Given the description of an element on the screen output the (x, y) to click on. 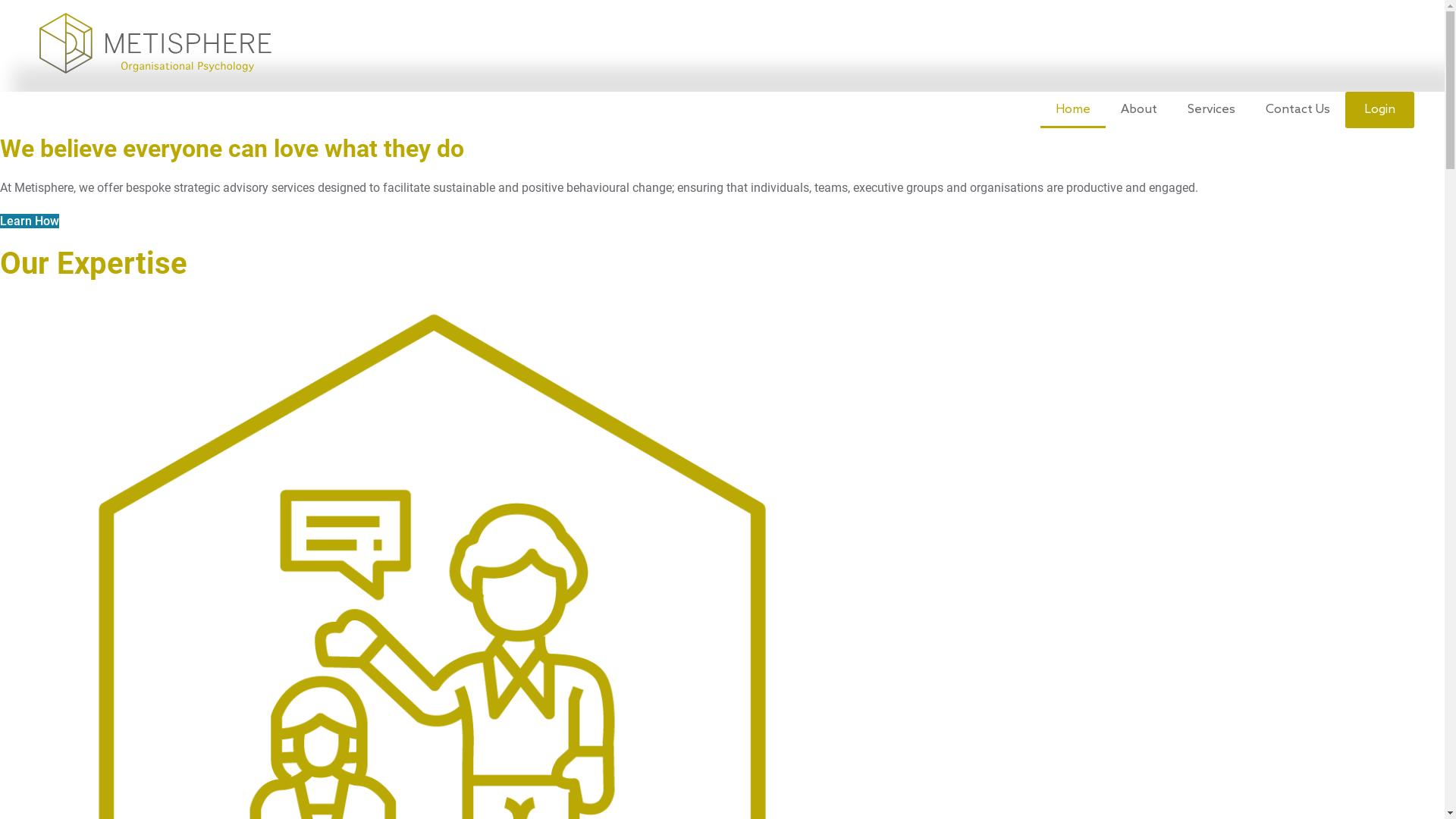
Home Element type: text (1072, 109)
Services Element type: text (1211, 109)
Login Element type: text (1379, 109)
Skip to content Element type: text (0, 0)
Contact Us Element type: text (1297, 109)
Learn How Element type: text (29, 220)
About Element type: text (1138, 109)
